Given the description of an element on the screen output the (x, y) to click on. 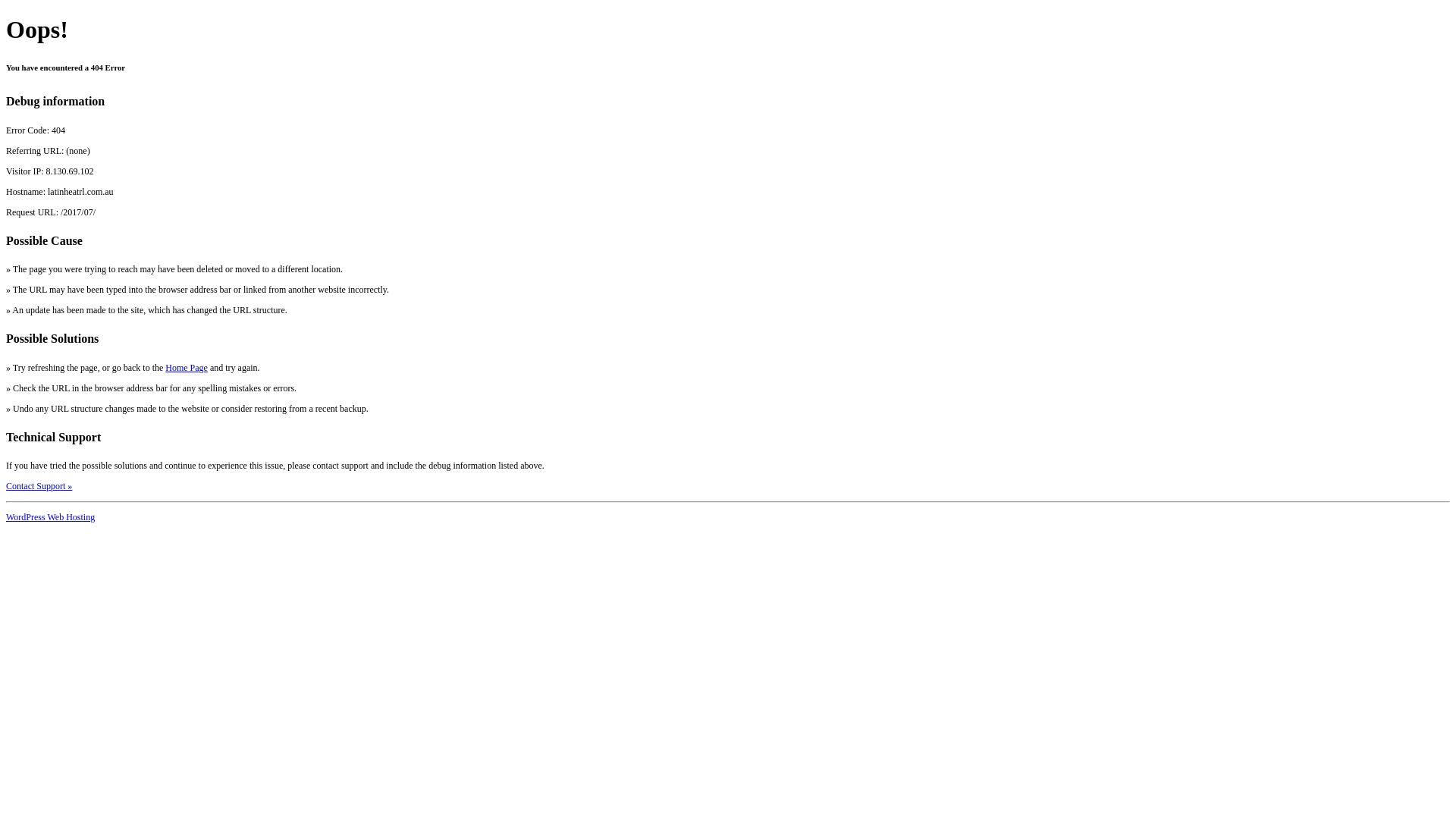
Home Page Element type: text (186, 367)
WordPress Web Hosting Element type: text (50, 516)
